Given the description of an element on the screen output the (x, y) to click on. 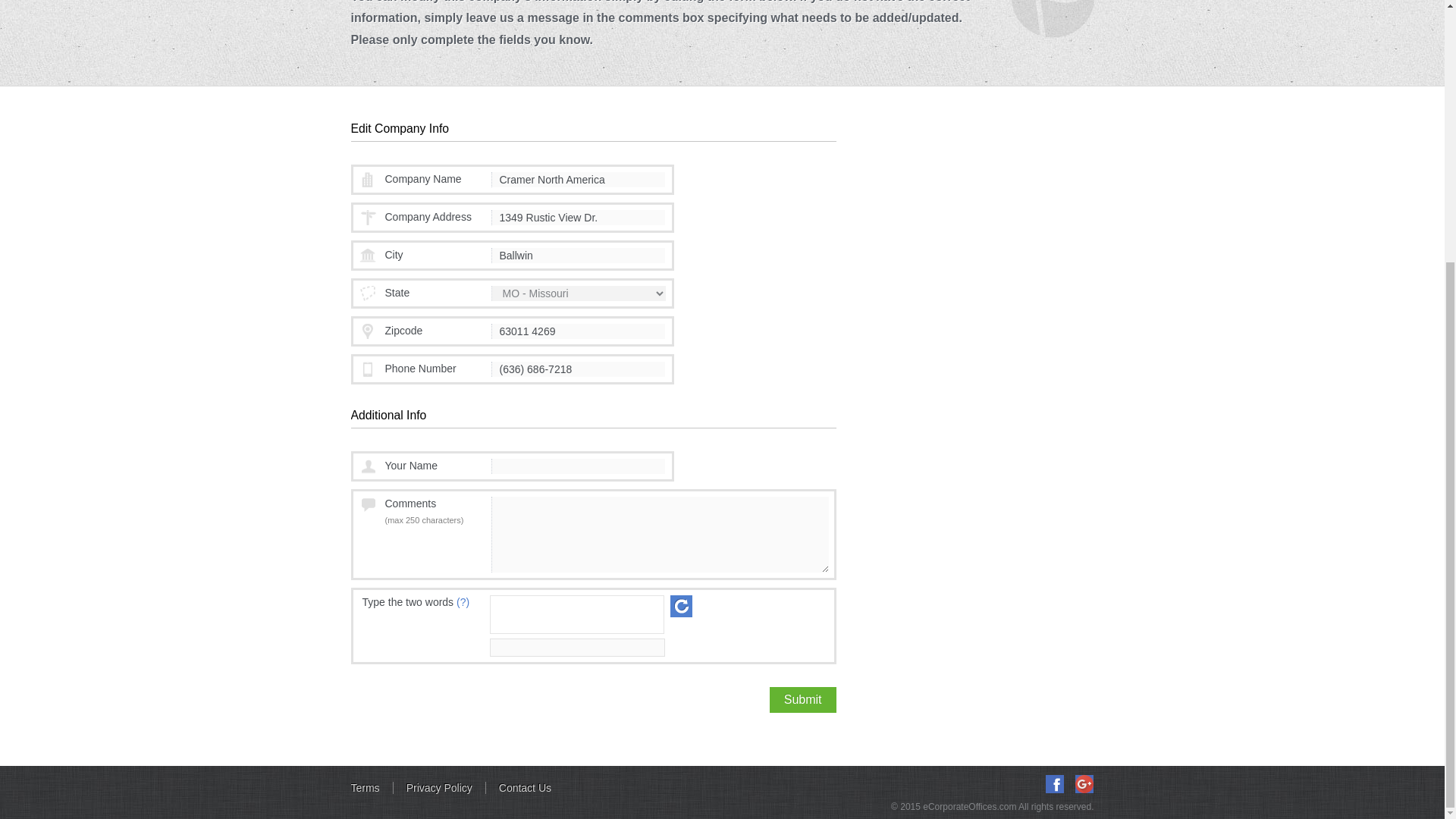
Privacy Policy (439, 787)
Ballwin (578, 255)
Terms (371, 787)
63011 4269 (578, 331)
Follow us on Facebook (1053, 783)
Cramer North America (578, 179)
Contact Us (525, 787)
1349 Rustic View Dr. (578, 217)
Submit (802, 699)
